Given the description of an element on the screen output the (x, y) to click on. 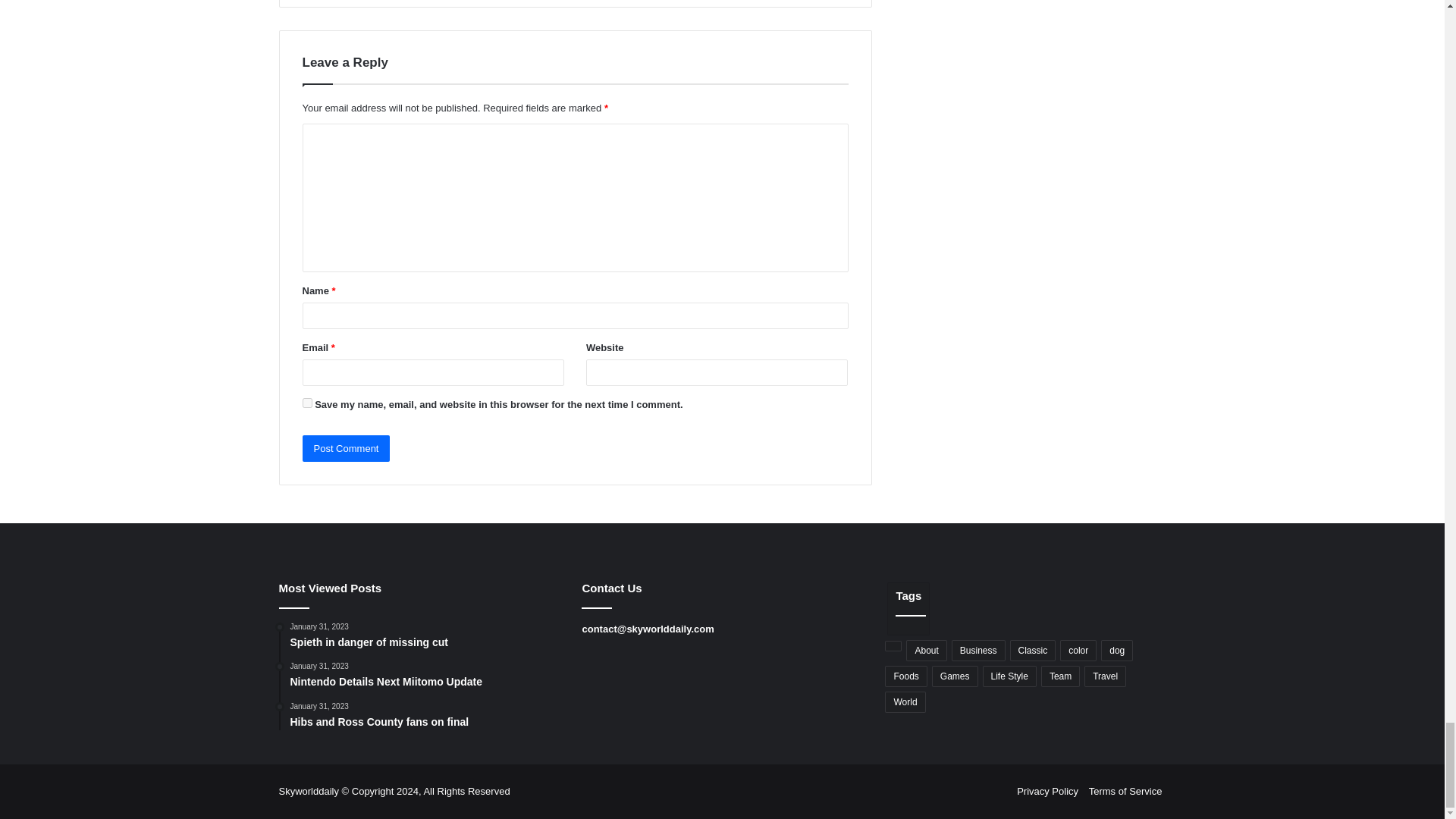
Post Comment (345, 447)
yes (306, 402)
Post Comment (345, 447)
